Given the description of an element on the screen output the (x, y) to click on. 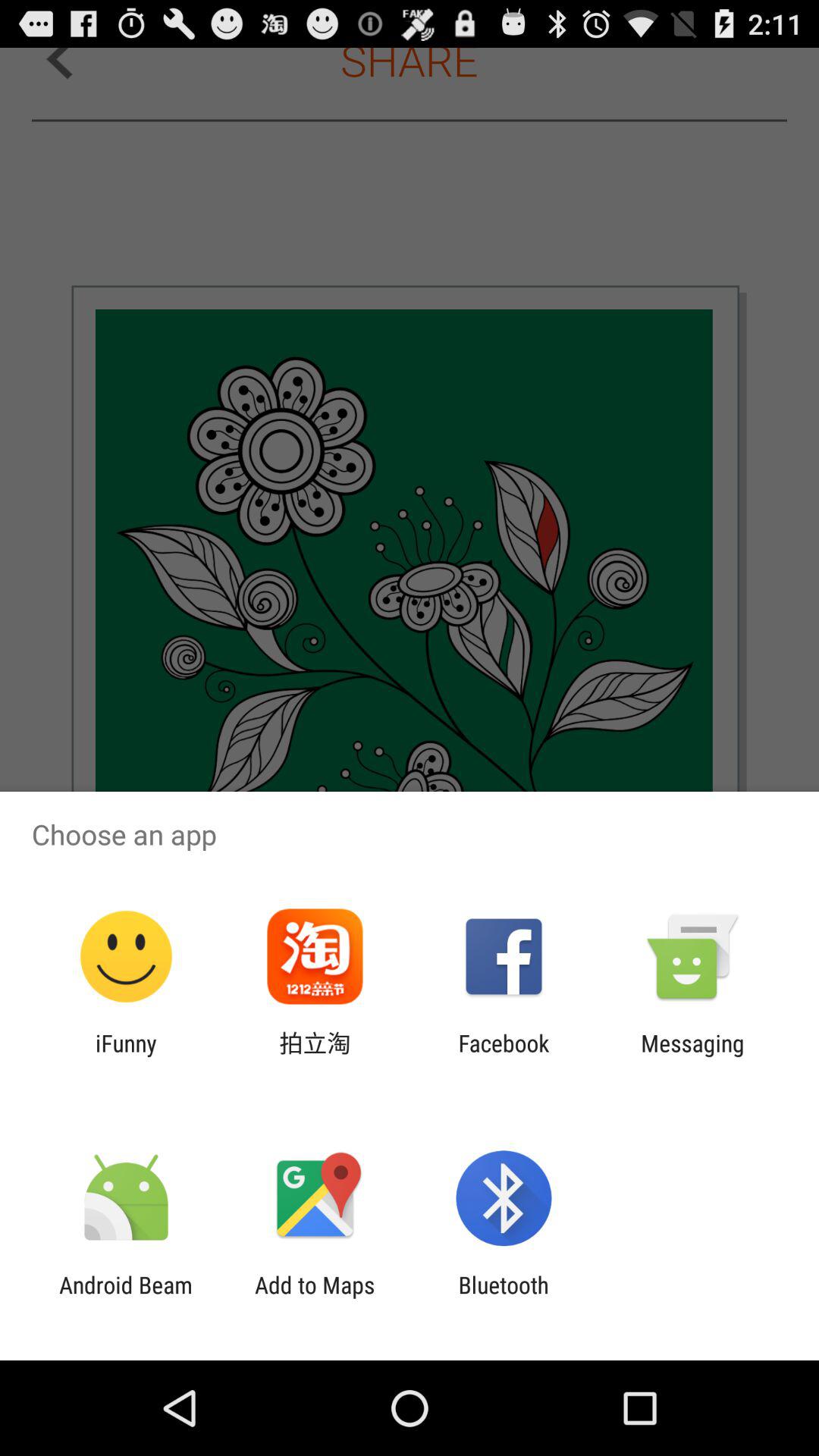
turn off app next to facebook icon (314, 1056)
